Given the description of an element on the screen output the (x, y) to click on. 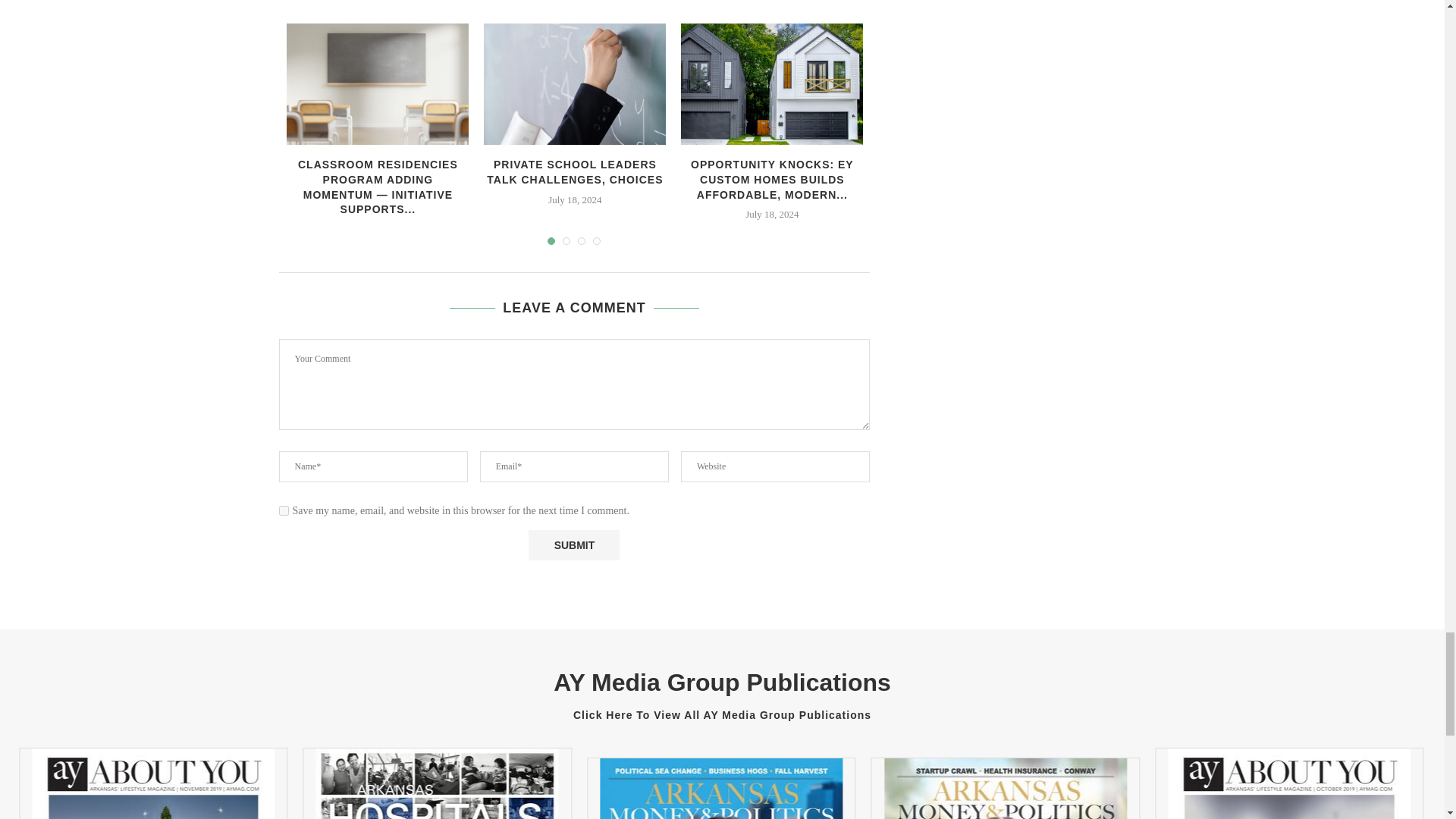
Private School Leaders Talk Challenges, Choices (574, 83)
yes (283, 510)
Submit (574, 544)
